Given the description of an element on the screen output the (x, y) to click on. 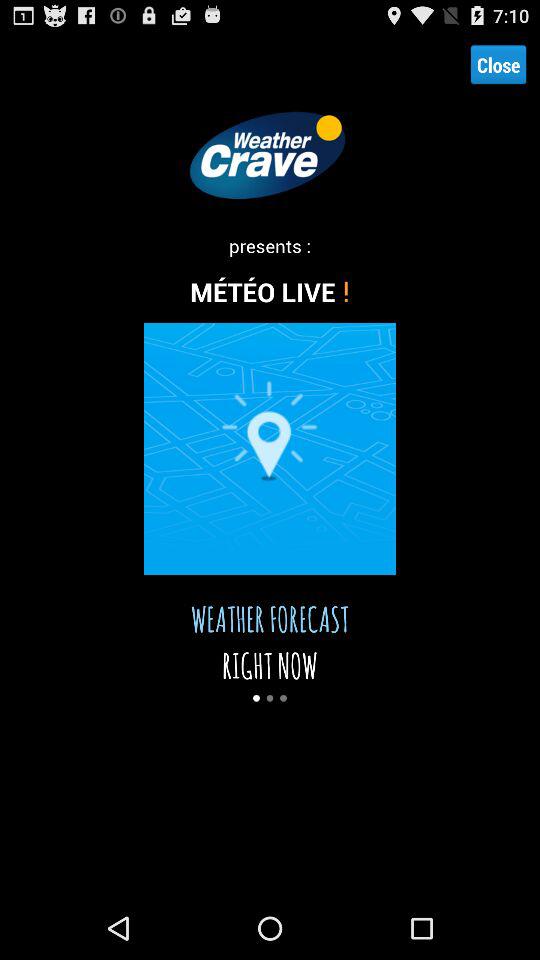
scroll to close (498, 64)
